Given the description of an element on the screen output the (x, y) to click on. 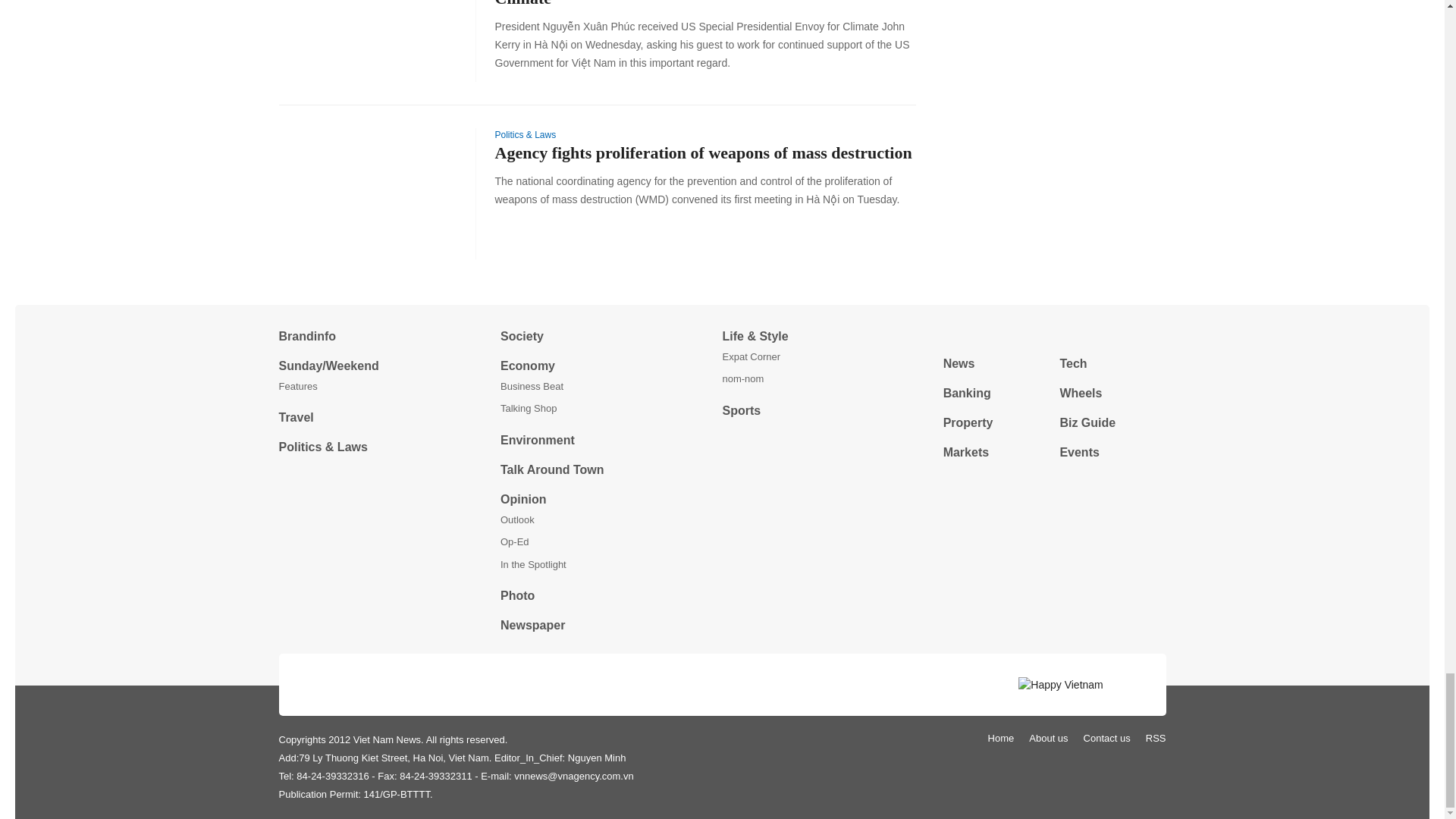
bizhub (1054, 335)
